Given the description of an element on the screen output the (x, y) to click on. 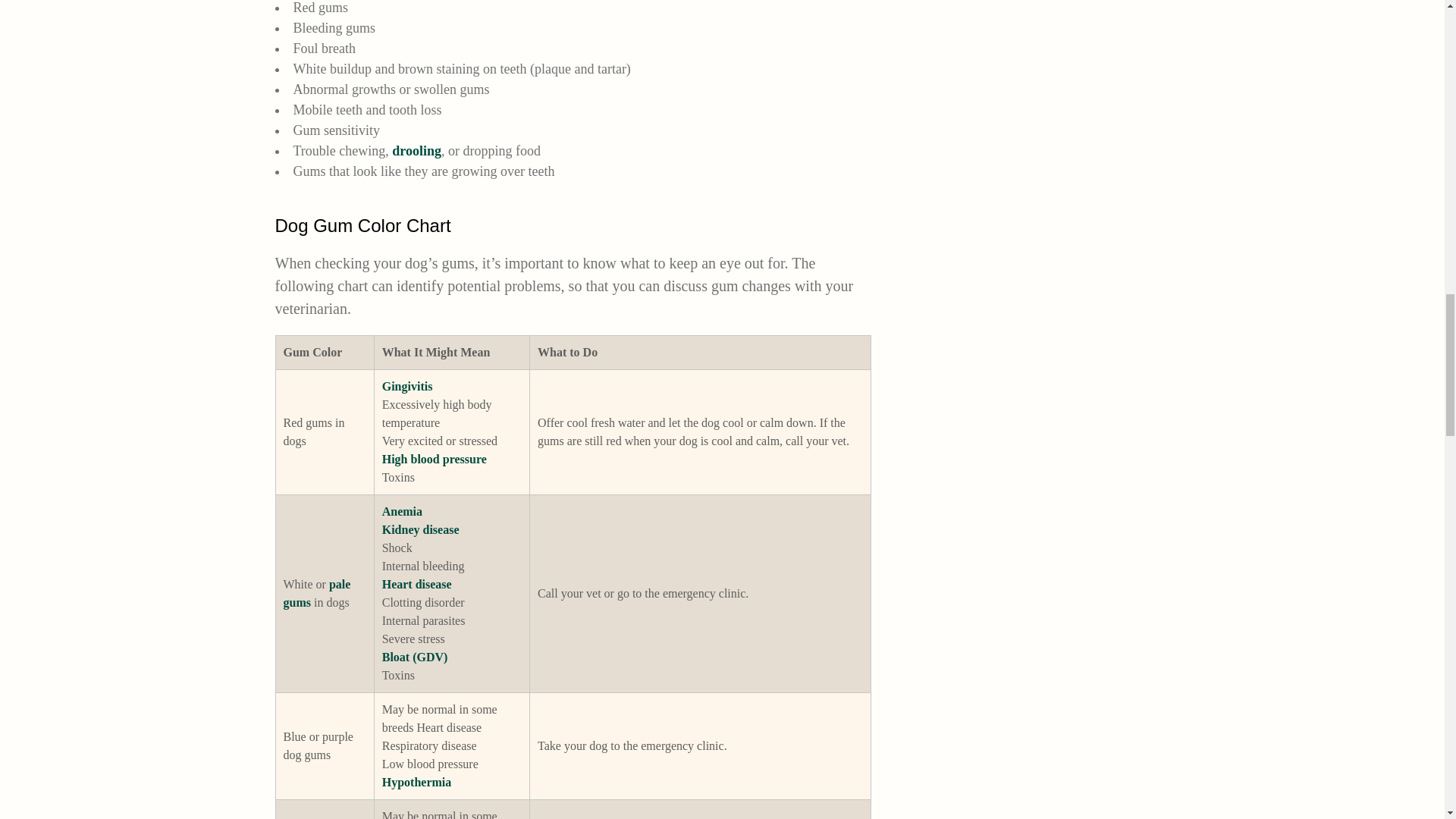
pale gums (316, 593)
Hypothermia (416, 781)
drooling (416, 150)
Anemia (401, 511)
Heart disease (416, 584)
High blood pressure (433, 459)
Kidney disease (420, 529)
Gingivitis (406, 386)
